Given the description of an element on the screen output the (x, y) to click on. 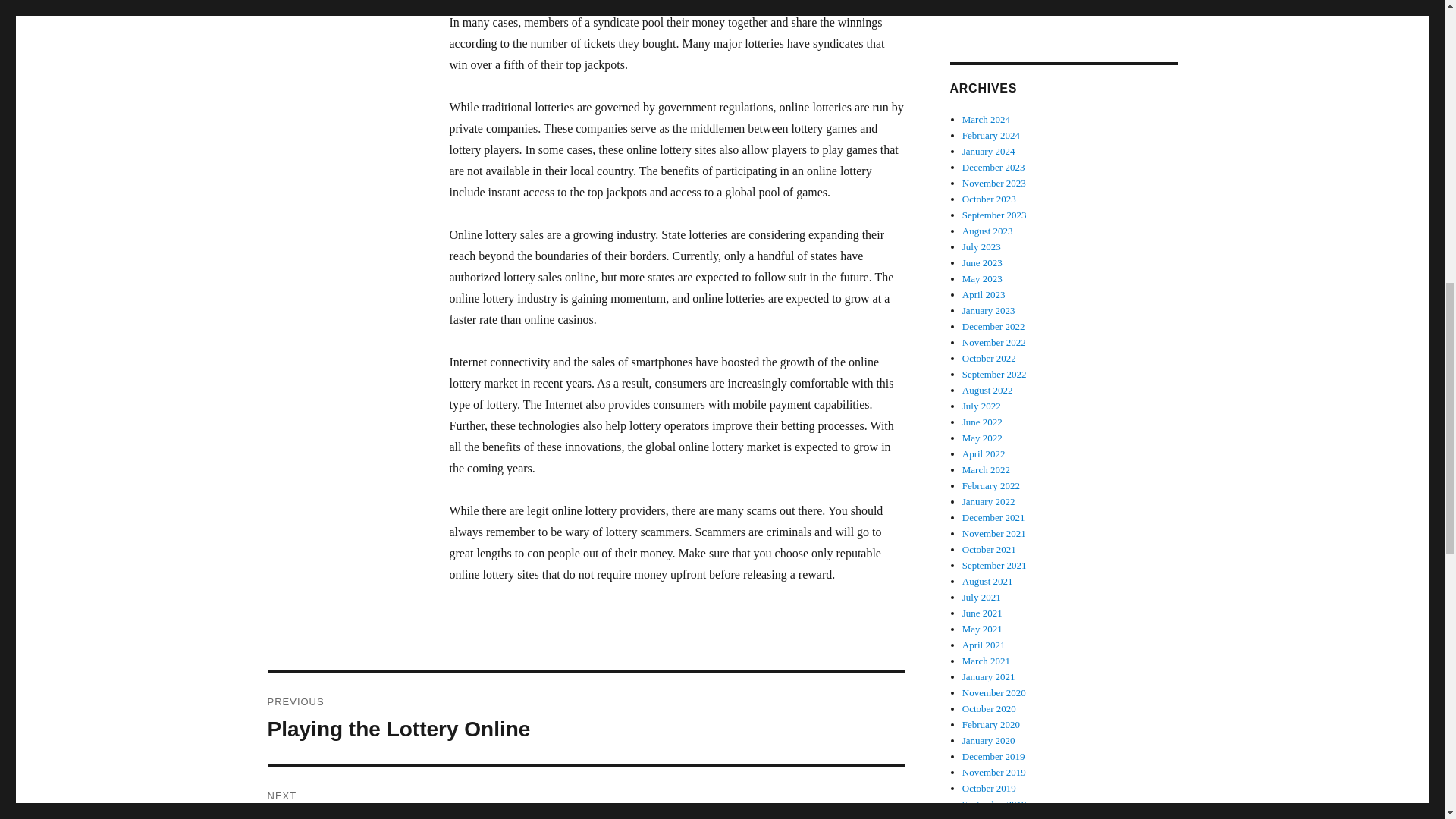
November 2022 (994, 342)
August 2023 (987, 230)
December 2022 (993, 326)
June 2023 (982, 262)
February 2024 (991, 134)
December 2023 (993, 166)
January 2024 (988, 151)
January 2023 (988, 310)
October 2023 (989, 198)
September 2023 (994, 214)
April 2023 (984, 294)
May 2023 (585, 718)
November 2023 (982, 278)
